Given the description of an element on the screen output the (x, y) to click on. 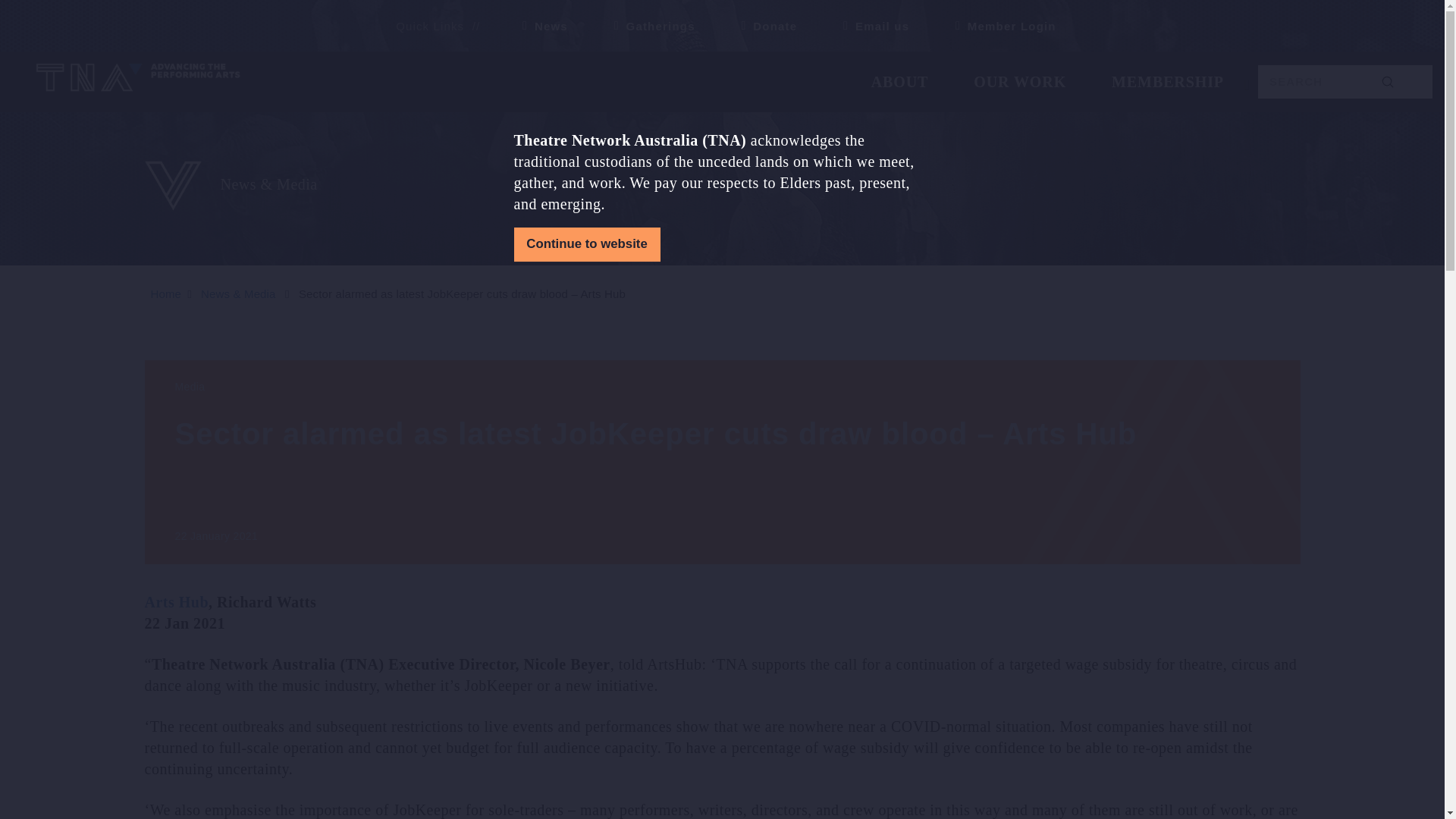
Email us (869, 25)
Donate (762, 25)
News (539, 25)
Member Login (999, 25)
Continue to website (587, 244)
Gatherings (648, 25)
